Given the description of an element on the screen output the (x, y) to click on. 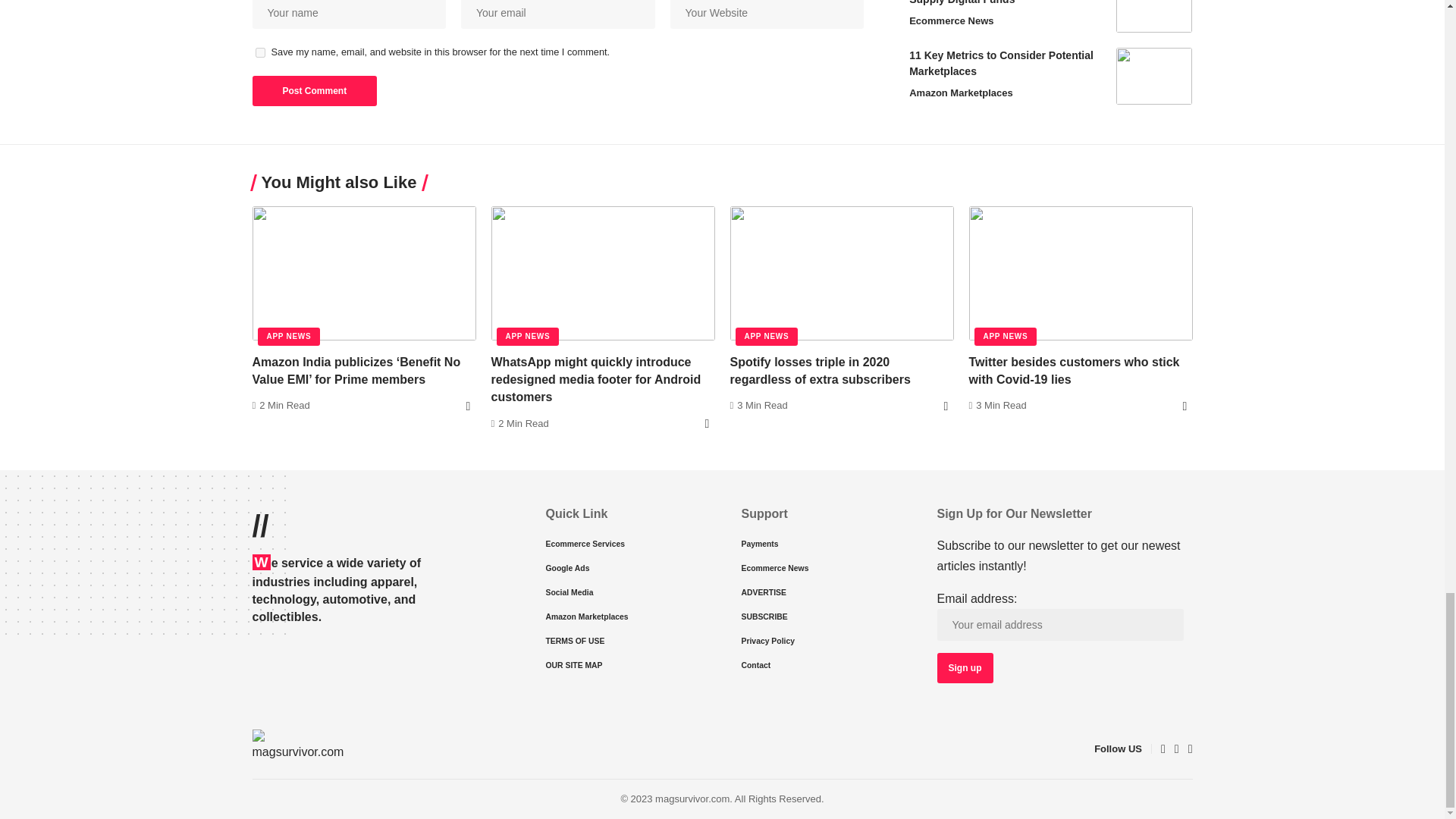
Post Comment (314, 91)
Sign up (964, 667)
yes (259, 52)
